Given the description of an element on the screen output the (x, y) to click on. 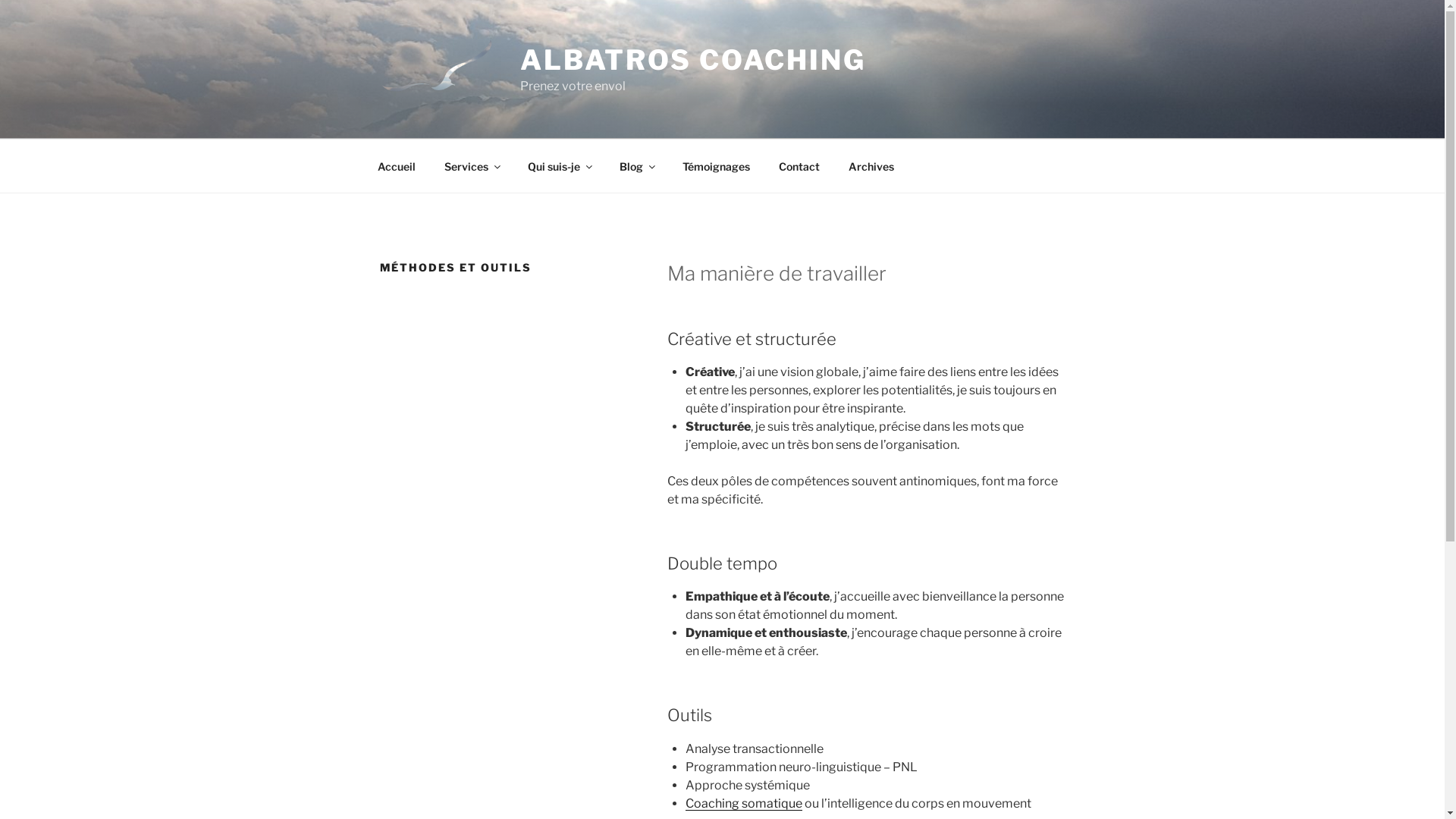
Accueil Element type: text (396, 165)
Archives Element type: text (871, 165)
ALBATROS COACHING Element type: text (693, 59)
Blog Element type: text (636, 165)
Coaching somatique Element type: text (743, 803)
Aller au contenu principal Element type: text (0, 0)
Qui suis-je Element type: text (558, 165)
Contact Element type: text (799, 165)
Services Element type: text (470, 165)
